Given the description of an element on the screen output the (x, y) to click on. 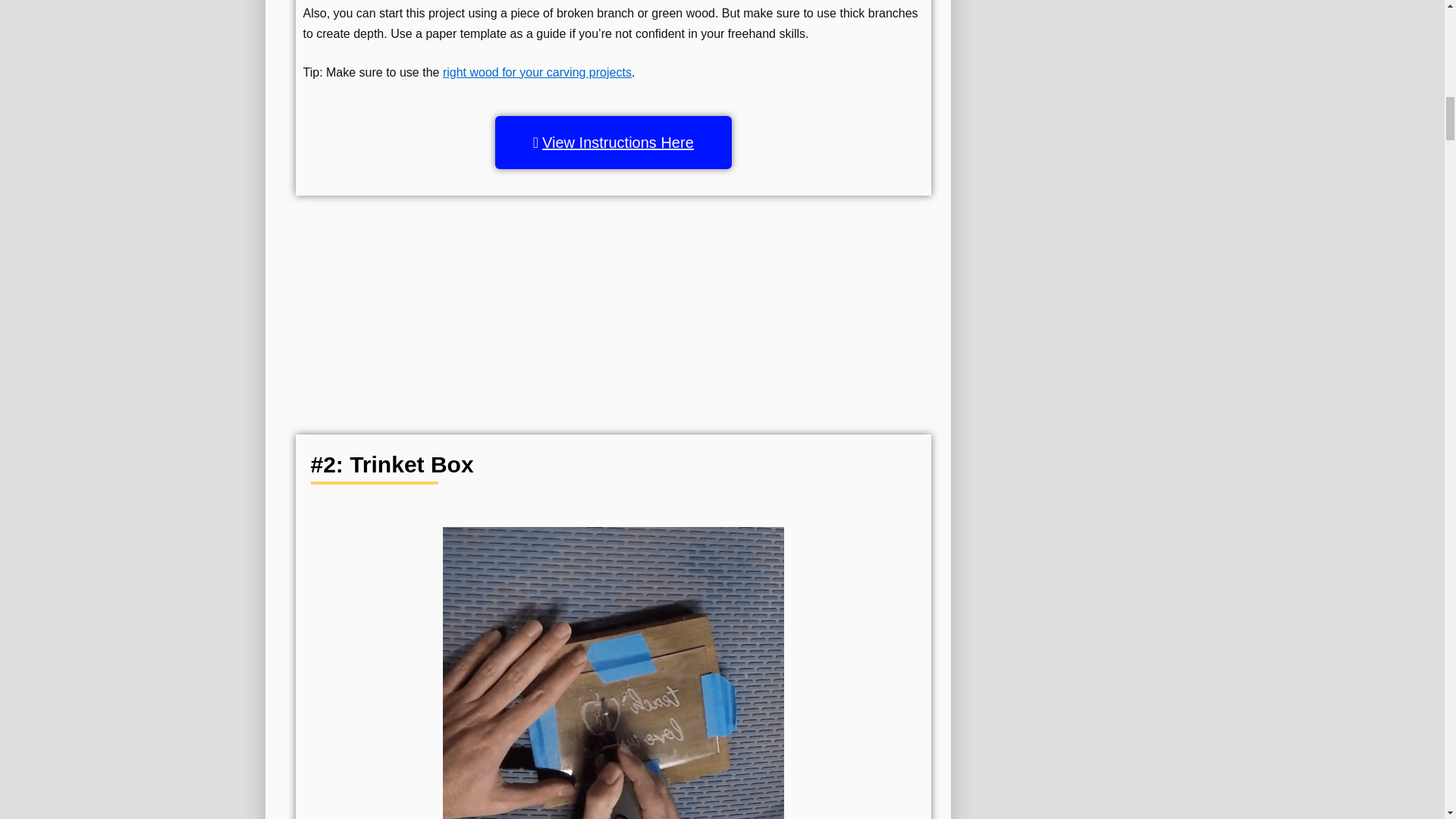
Trinket Box (613, 673)
right wood for your carving projects (536, 72)
View Instructions Here (613, 142)
